Given the description of an element on the screen output the (x, y) to click on. 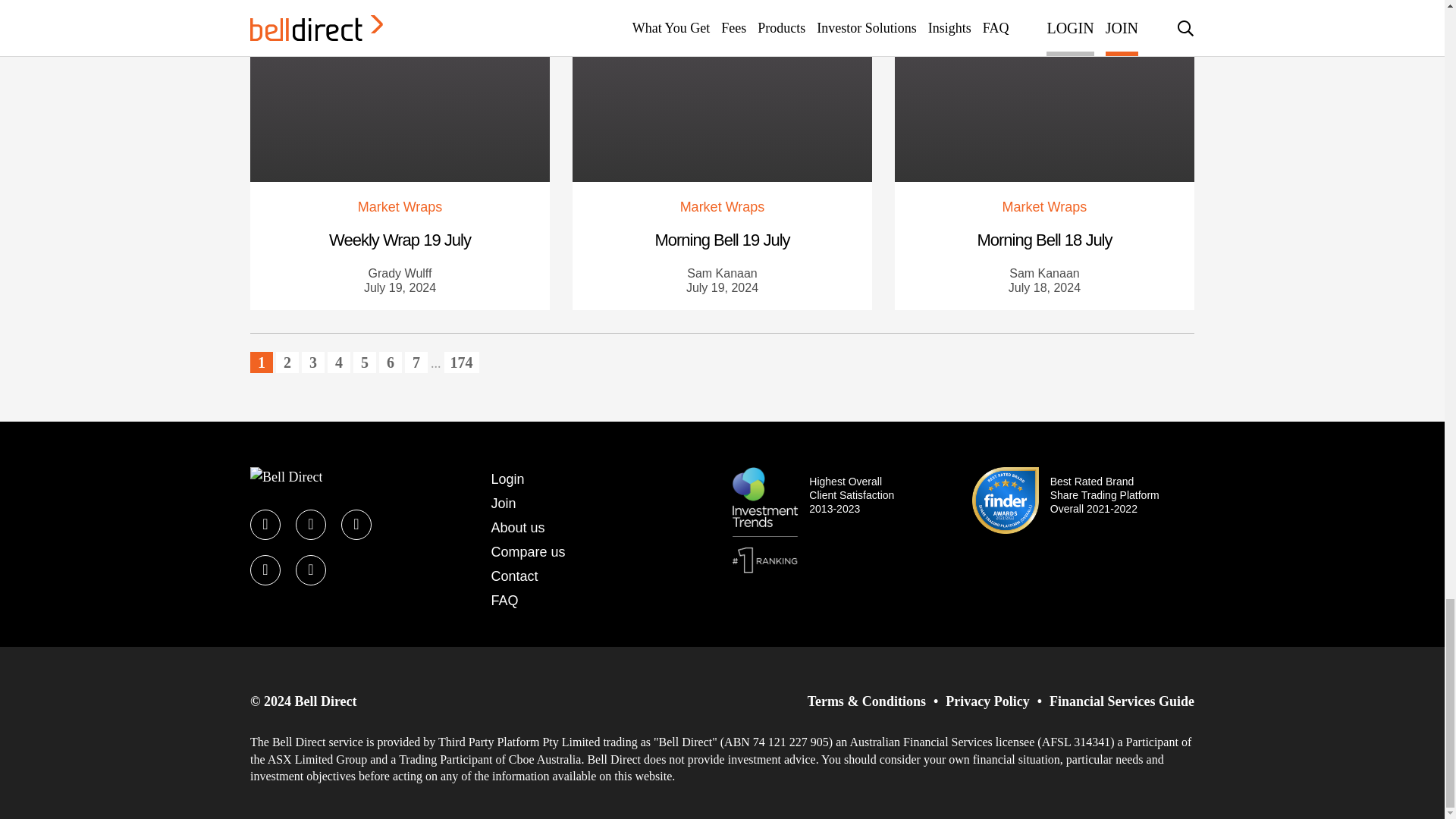
3 (312, 362)
6 (389, 362)
174 (461, 362)
7 (416, 362)
5 (364, 362)
4 (338, 362)
2 (287, 362)
